Given the description of an element on the screen output the (x, y) to click on. 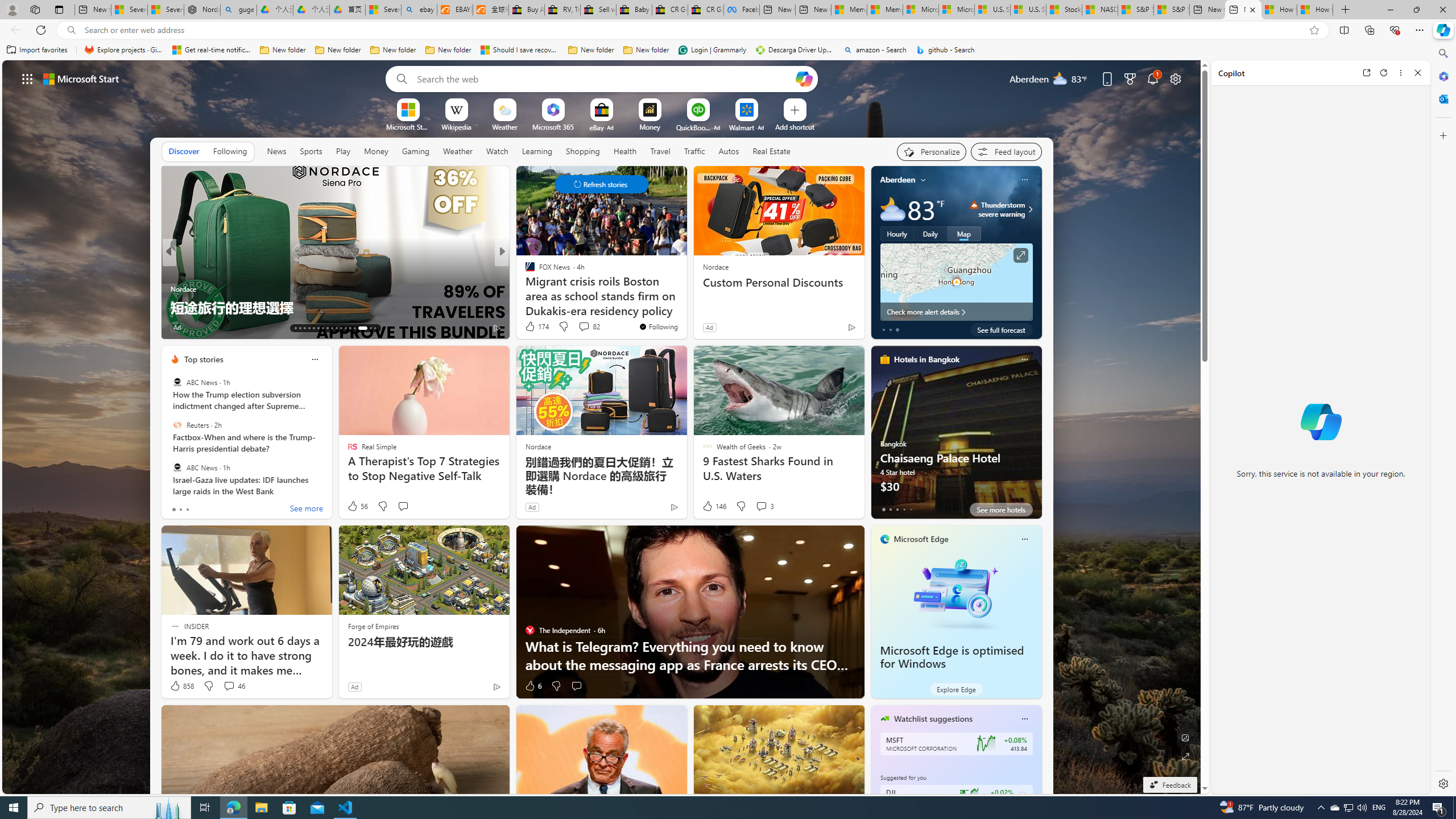
My location (922, 179)
6 Like (532, 685)
Forge of Empires (372, 625)
Real Estate (771, 151)
Should I save recovered Word documents? - Microsoft Support (519, 49)
Weather (457, 151)
AutomationID: tab-23 (340, 328)
AutomationID: tab-21 (331, 328)
Real Estate (771, 151)
hotels-header-icon (884, 358)
More options (1401, 72)
Customize (1442, 135)
